Given the description of an element on the screen output the (x, y) to click on. 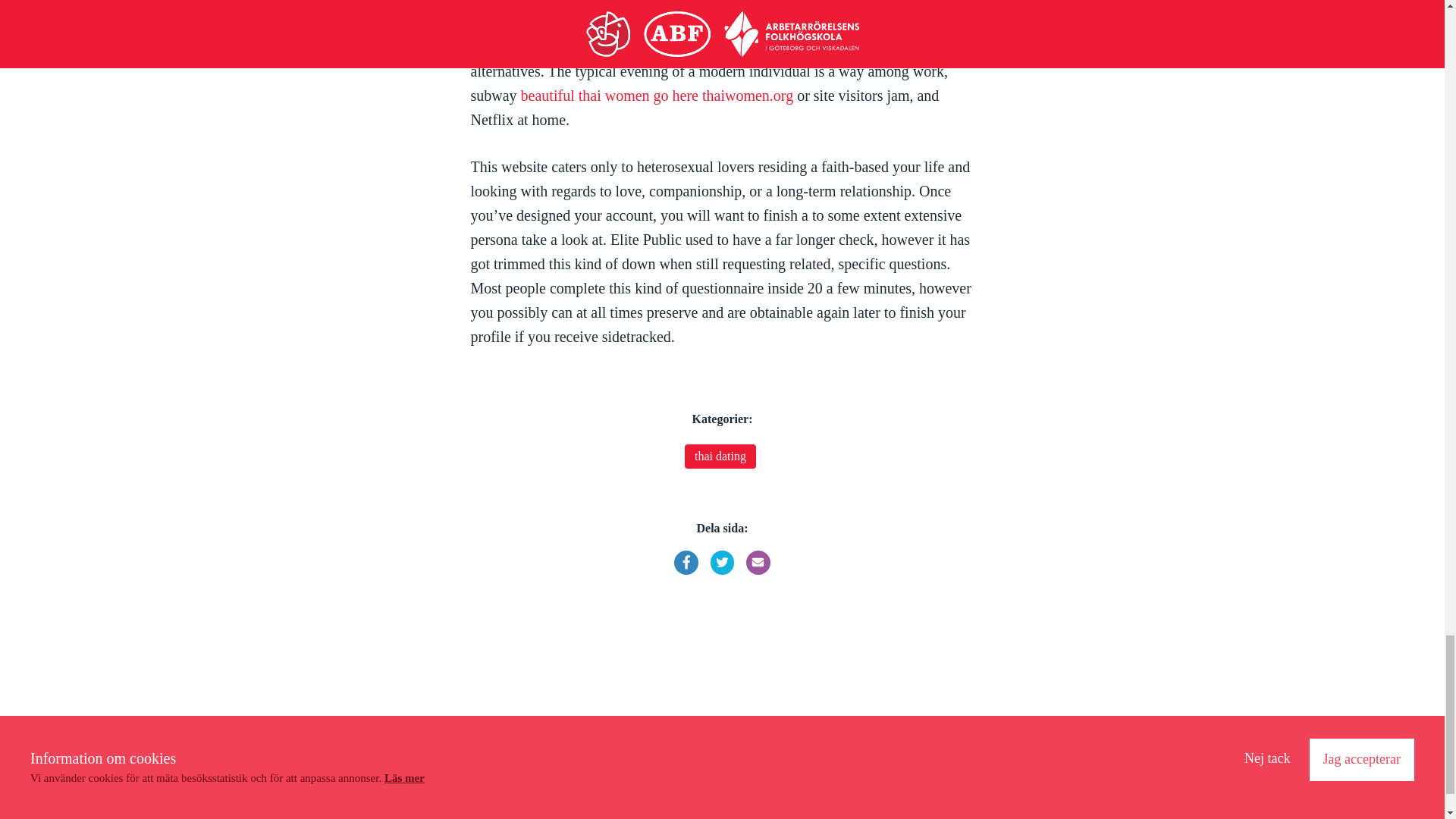
beautiful thai women go here thaiwomen.org (657, 95)
Dela via e-post (757, 562)
thai dating (719, 456)
